Given the description of an element on the screen output the (x, y) to click on. 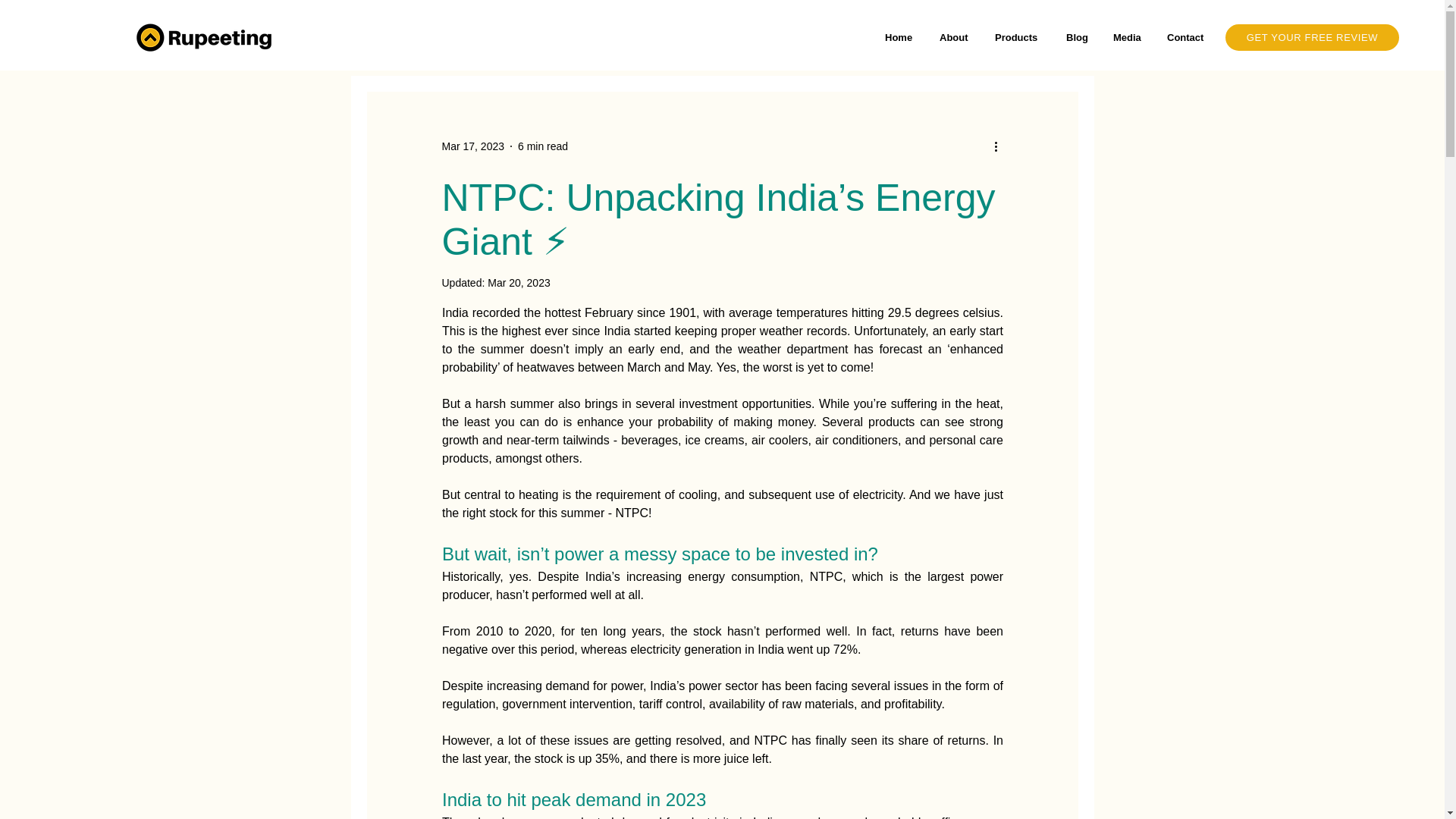
Blog (1078, 37)
Mar 20, 2023 (518, 282)
Rupeeting Logo (207, 37)
6 min read (542, 145)
Media (1129, 37)
Mar 17, 2023 (472, 145)
Contact (1188, 37)
GET YOUR FREE REVIEW (1312, 37)
Home (900, 37)
About (956, 37)
